Given the description of an element on the screen output the (x, y) to click on. 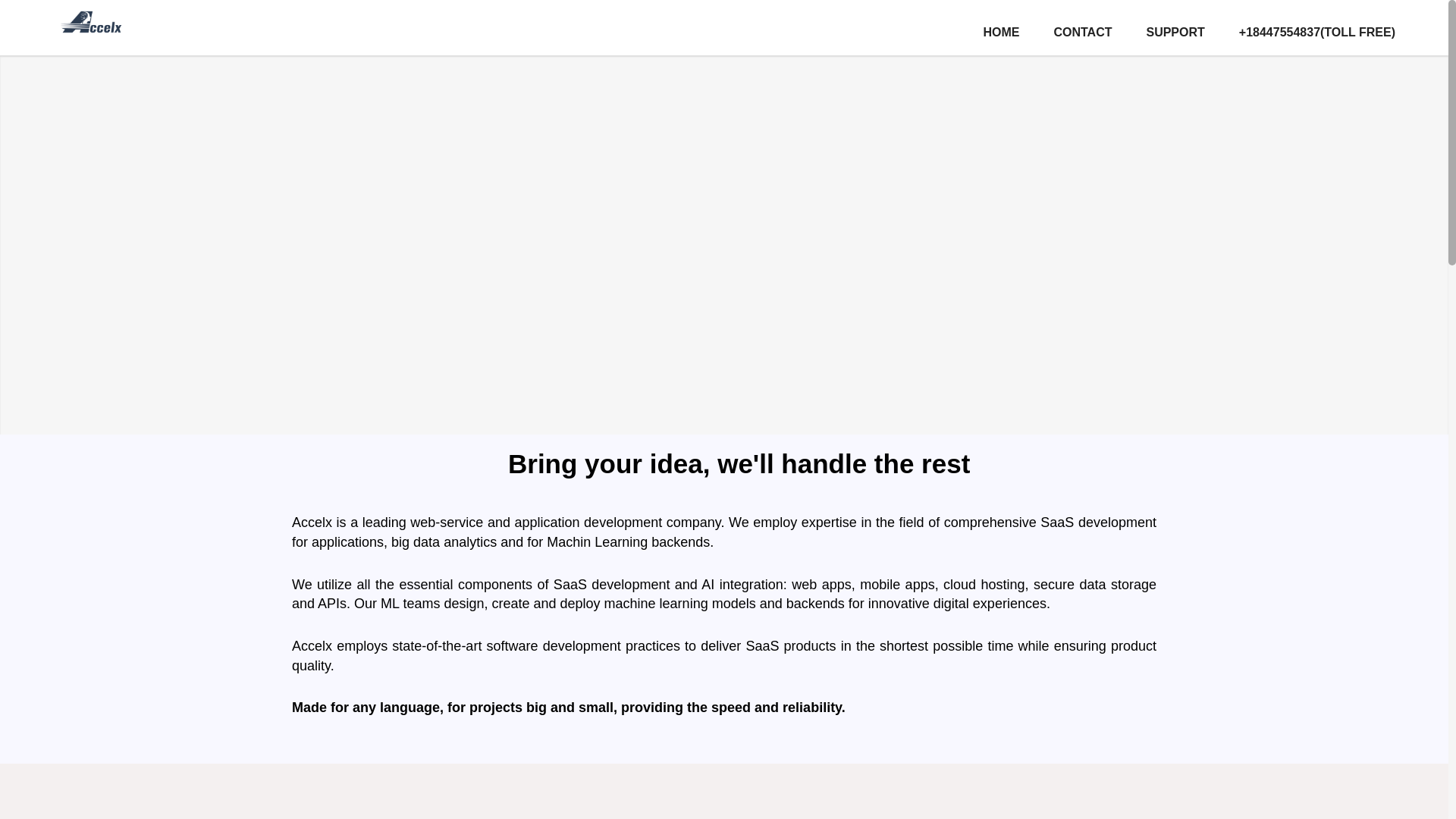
HOME (1000, 25)
CONTACT (1082, 25)
SUPPORT (1175, 25)
